Given the description of an element on the screen output the (x, y) to click on. 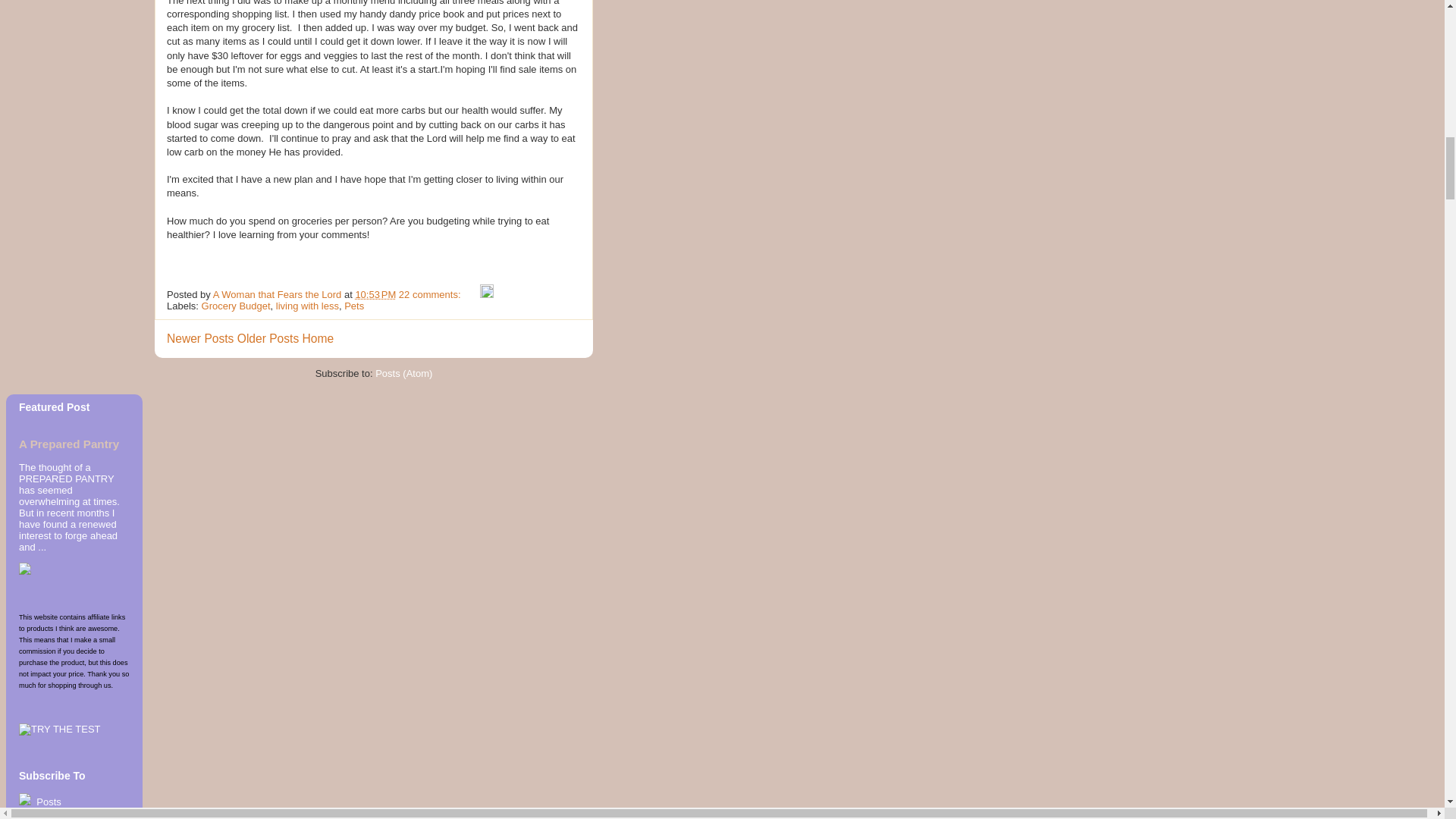
Older Posts (267, 338)
author profile (277, 294)
Email Post (471, 294)
Newer Posts (199, 338)
Home (318, 338)
Edit Post (486, 294)
22 comments: (430, 294)
A Prepared Pantry (68, 443)
A Woman that Fears the Lord (277, 294)
Older Posts (267, 338)
Grocery Budget (236, 306)
Newer Posts (199, 338)
permanent link (375, 294)
Pets (353, 306)
